Given the description of an element on the screen output the (x, y) to click on. 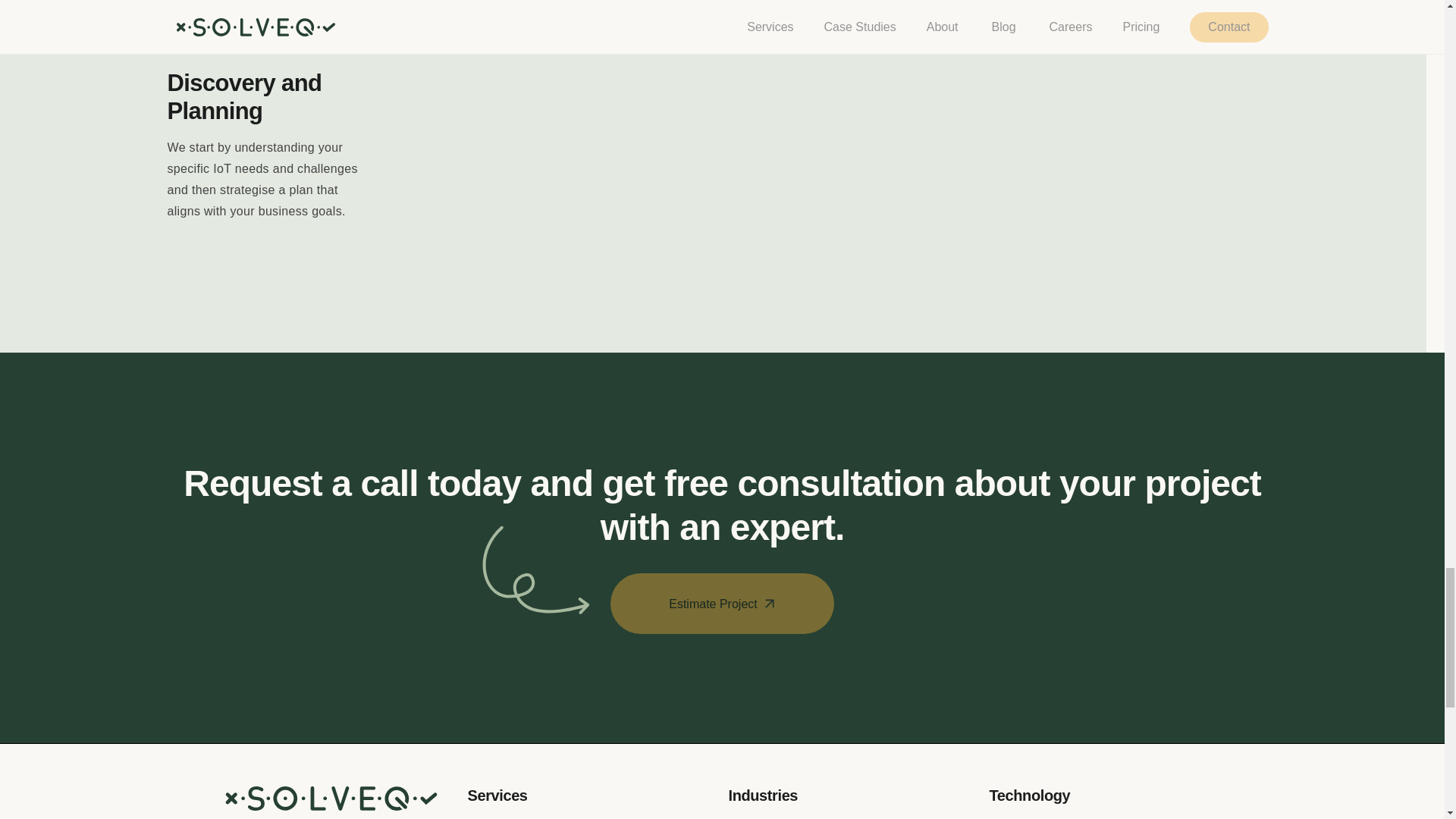
Estimate Project (722, 603)
Estimate Project (722, 590)
